Given the description of an element on the screen output the (x, y) to click on. 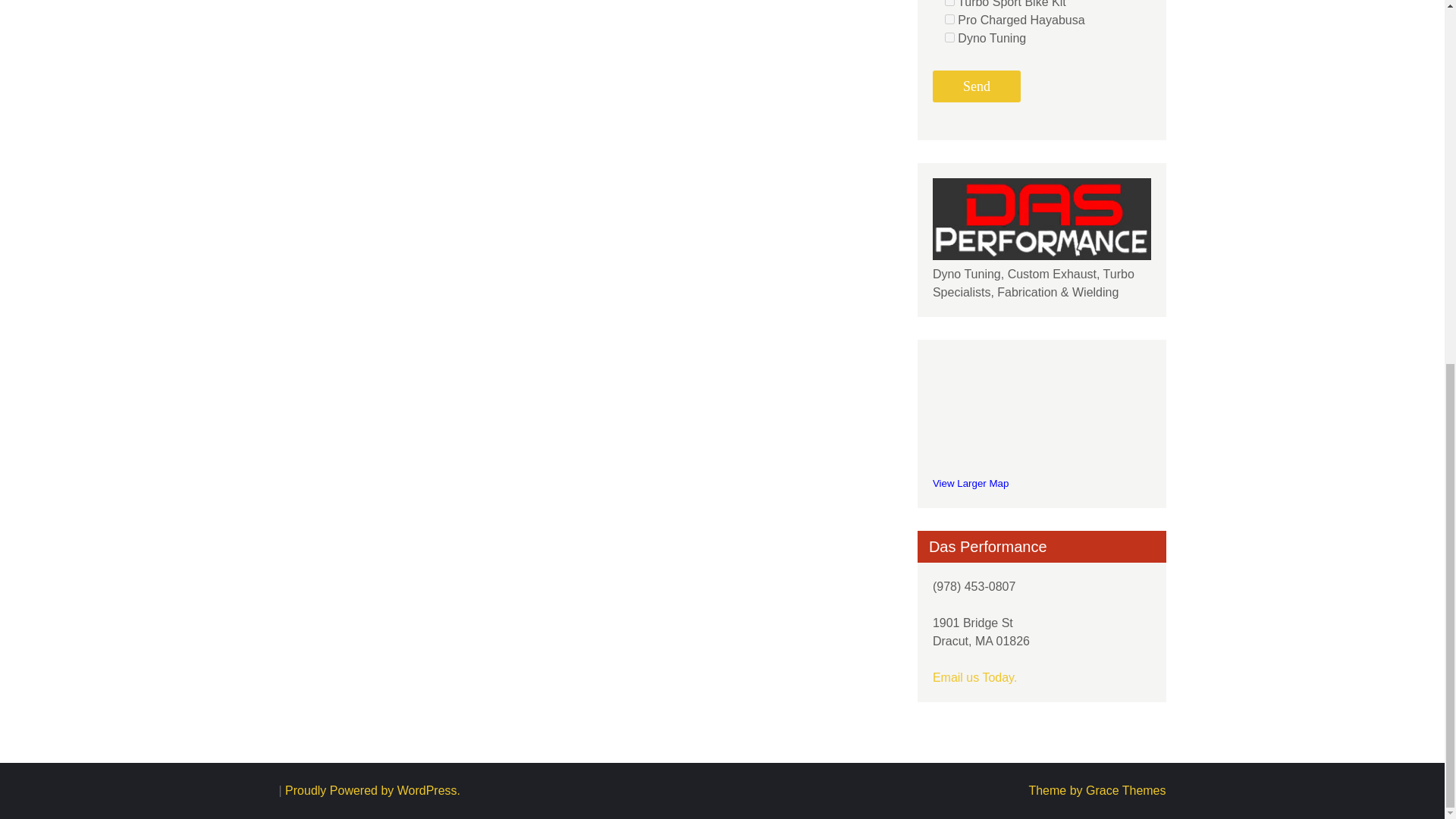
Motorcycle Dyno tuning (1042, 219)
Send (976, 86)
Send (976, 86)
Dyno Tuning (949, 37)
Turbo Sport Bike Kit (949, 2)
Theme by Grace Themes (1096, 789)
Email us Today. (974, 676)
View Larger Map (971, 482)
Proudly Powered by WordPress. (372, 789)
Pro Charged Hayabusa (949, 19)
